Given the description of an element on the screen output the (x, y) to click on. 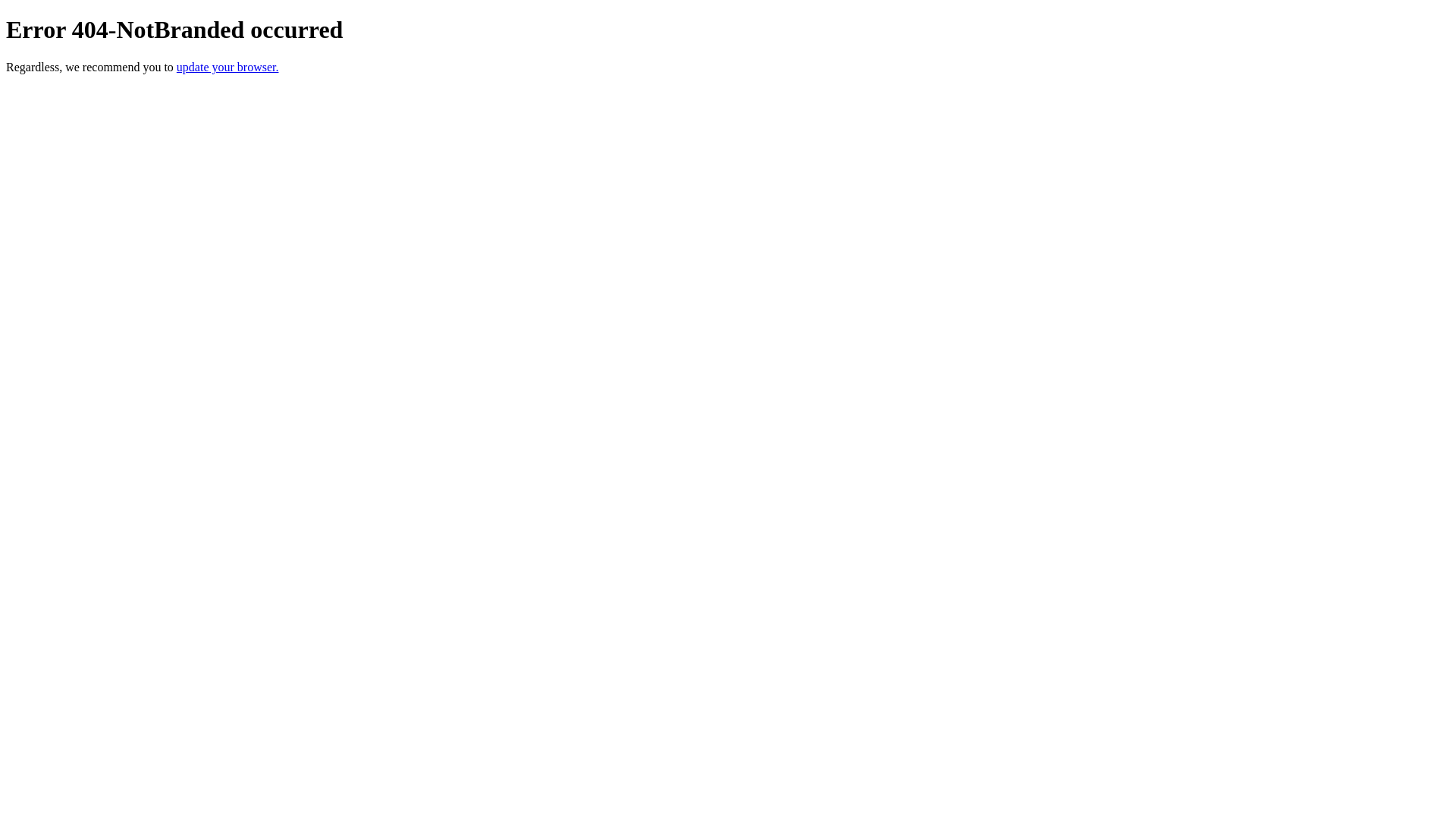
update your browser. Element type: text (227, 66)
